Given the description of an element on the screen output the (x, y) to click on. 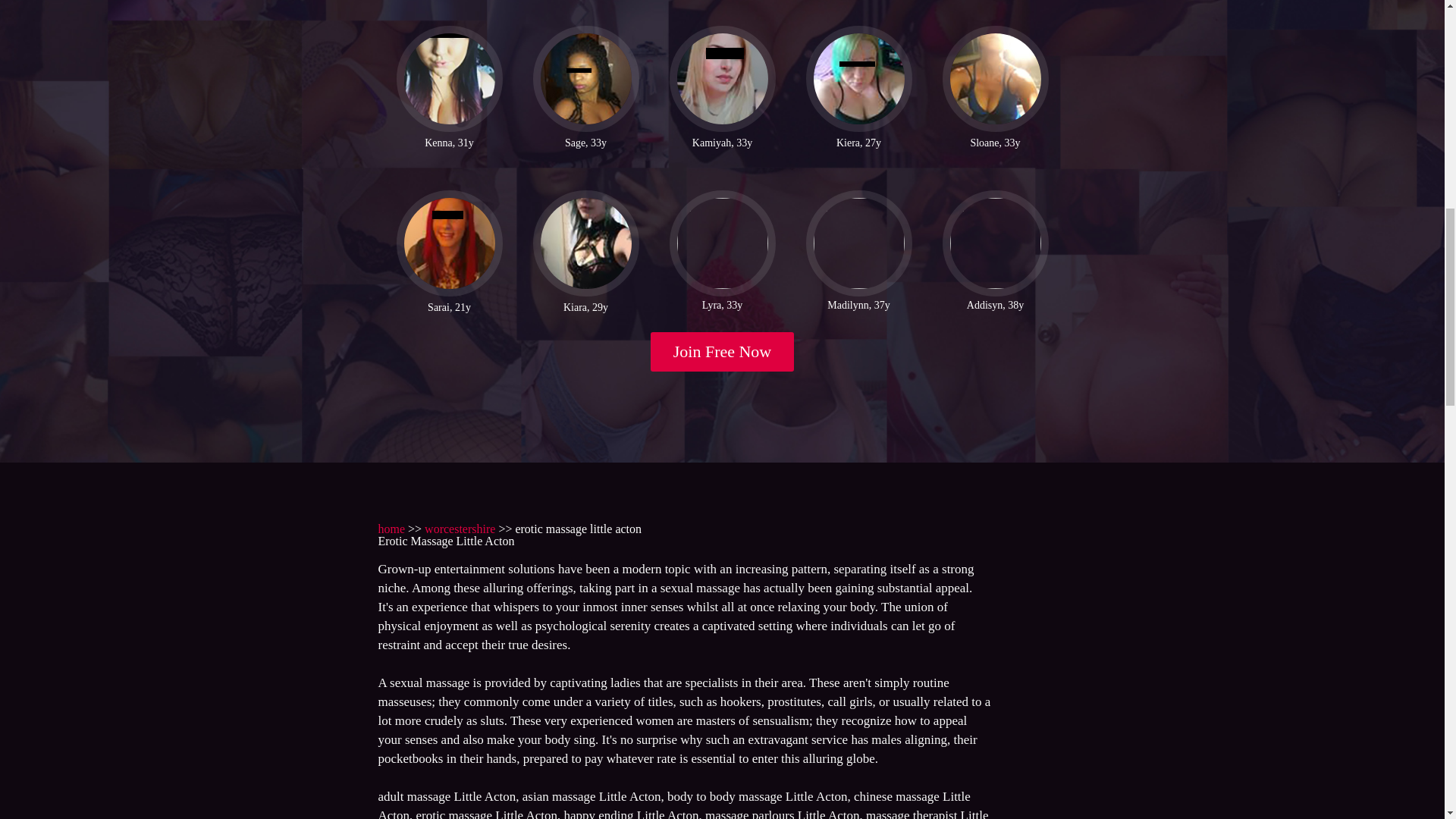
Join Free Now (722, 351)
home (390, 528)
Join (722, 351)
worcestershire (460, 528)
